Given the description of an element on the screen output the (x, y) to click on. 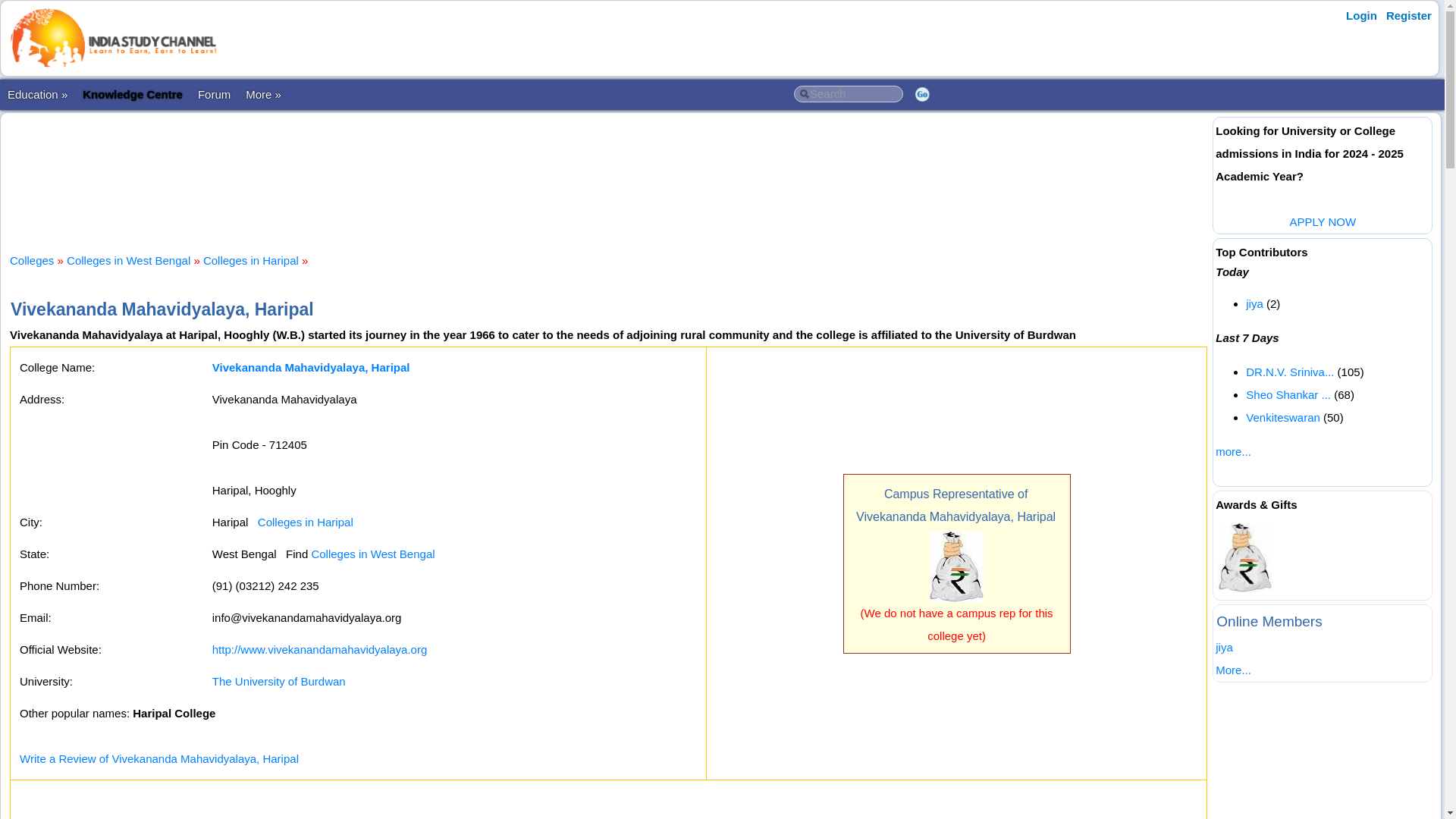
Vivekananda Mahavidyalaya, Haripal (311, 367)
Search (847, 93)
Write a Review of Vivekananda Mahavidyalaya, Haripal (159, 758)
Forum (214, 94)
Colleges in West Bengal (372, 553)
Login (1361, 15)
Register (1409, 15)
Colleges in Haripal (250, 259)
The University of Burdwan (279, 680)
Colleges (31, 259)
